Given the description of an element on the screen output the (x, y) to click on. 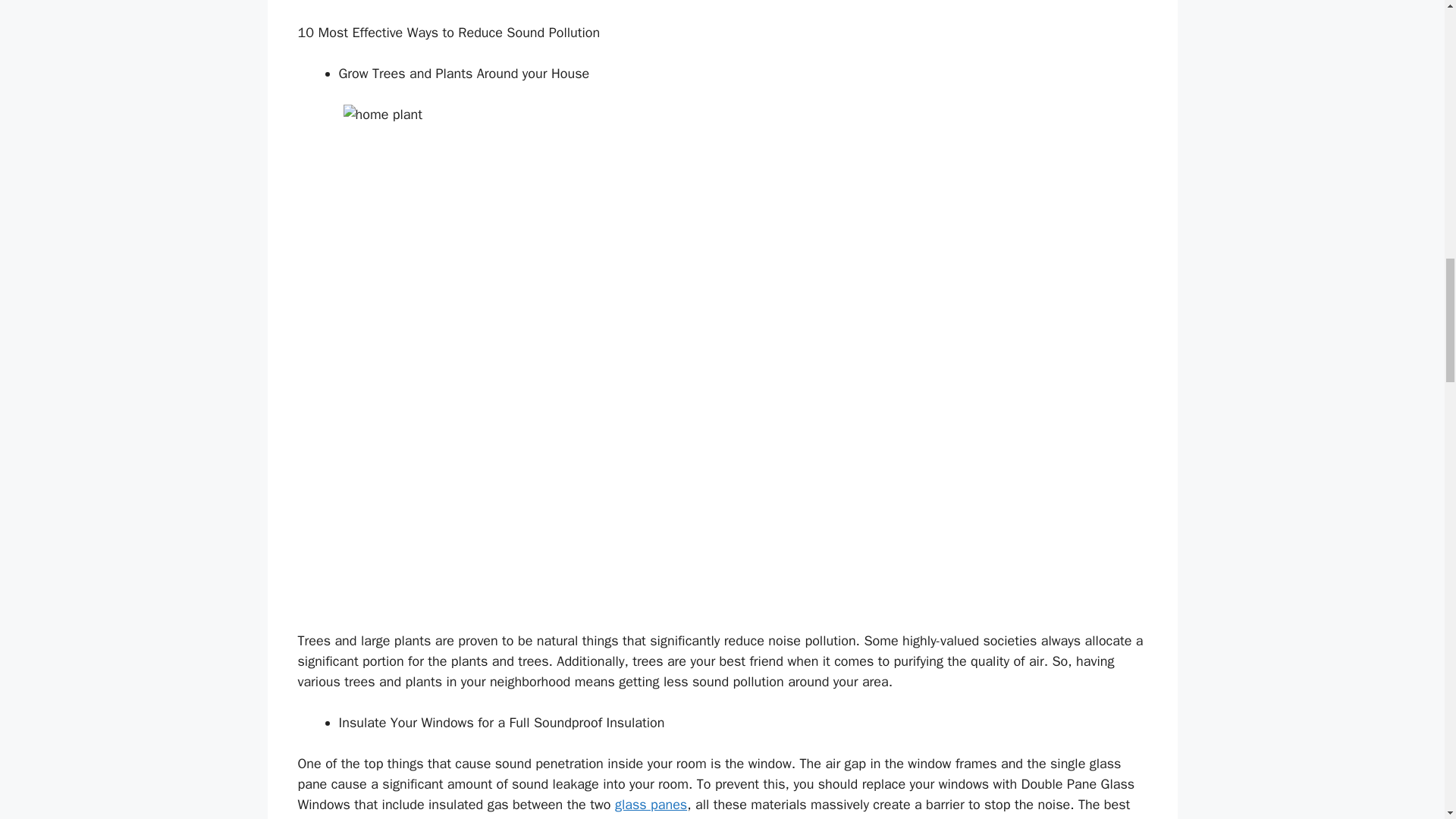
glass panes (650, 804)
